Given the description of an element on the screen output the (x, y) to click on. 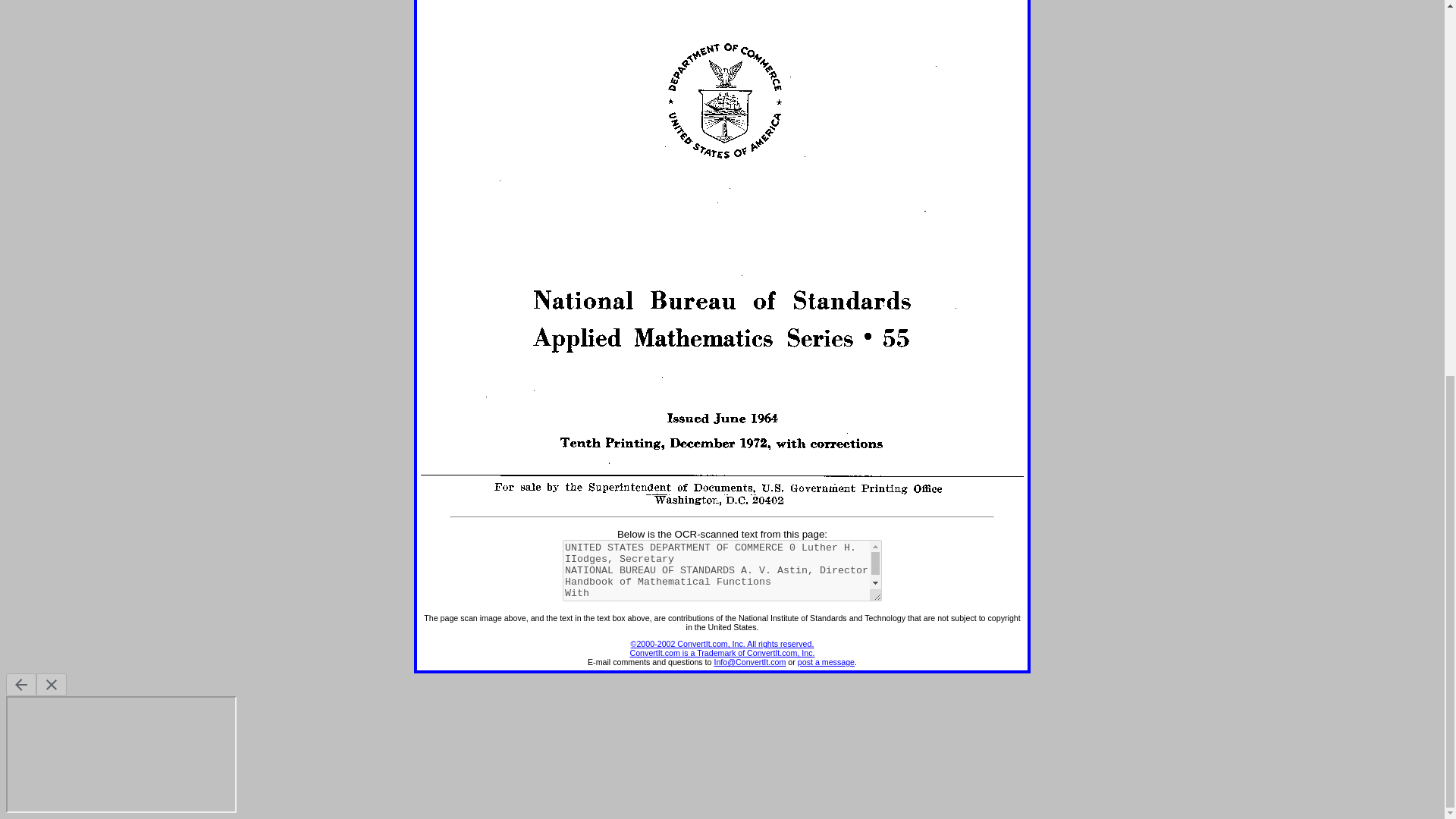
Note: Message Board will open in a new window. (825, 661)
post a message (825, 661)
